Given the description of an element on the screen output the (x, y) to click on. 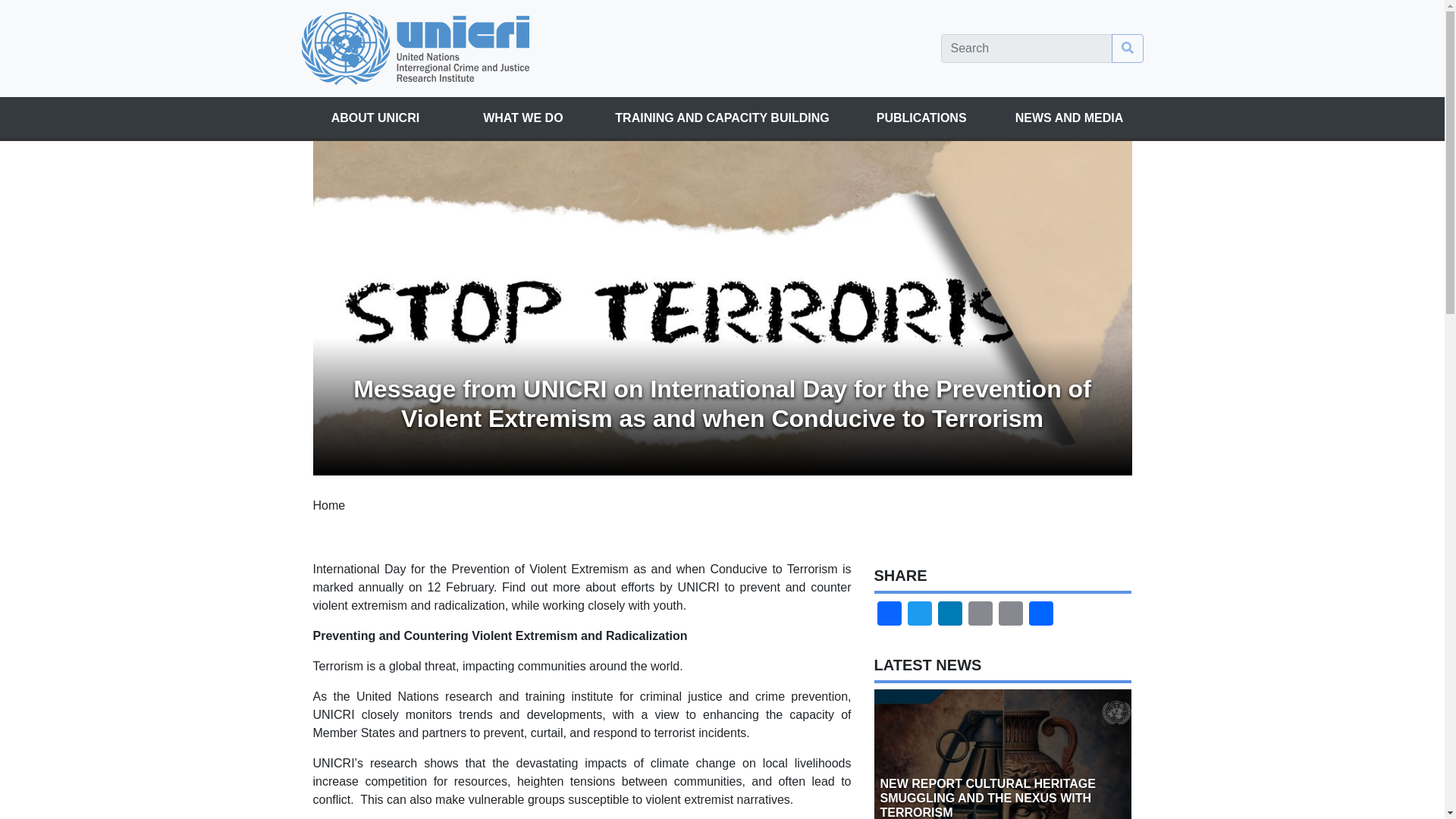
ABOUT UNICRI (375, 118)
TRAINING AND CAPACITY BUILDING (721, 118)
WHAT WE DO (522, 118)
